Given the description of an element on the screen output the (x, y) to click on. 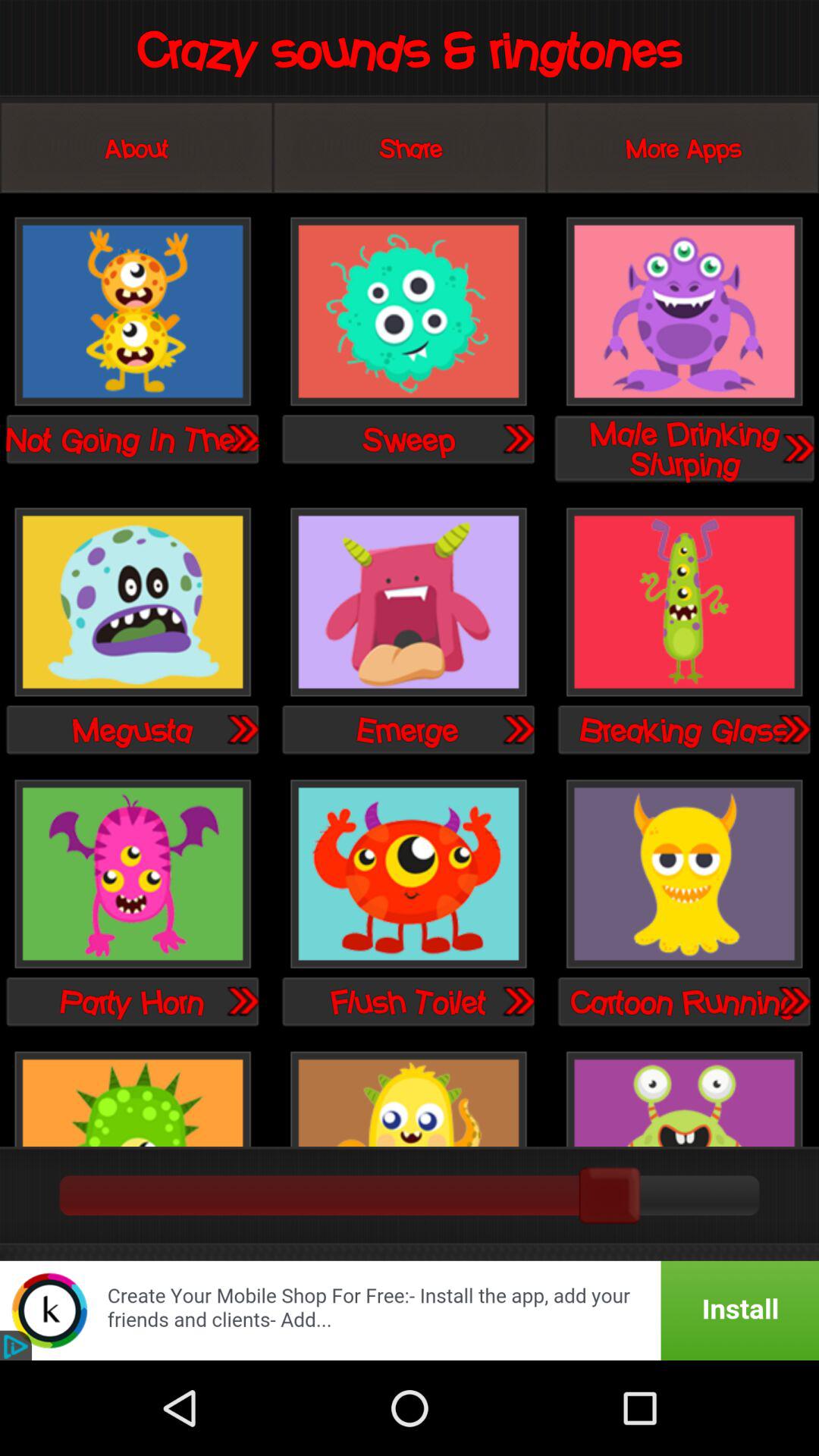
go next (242, 438)
